Given the description of an element on the screen output the (x, y) to click on. 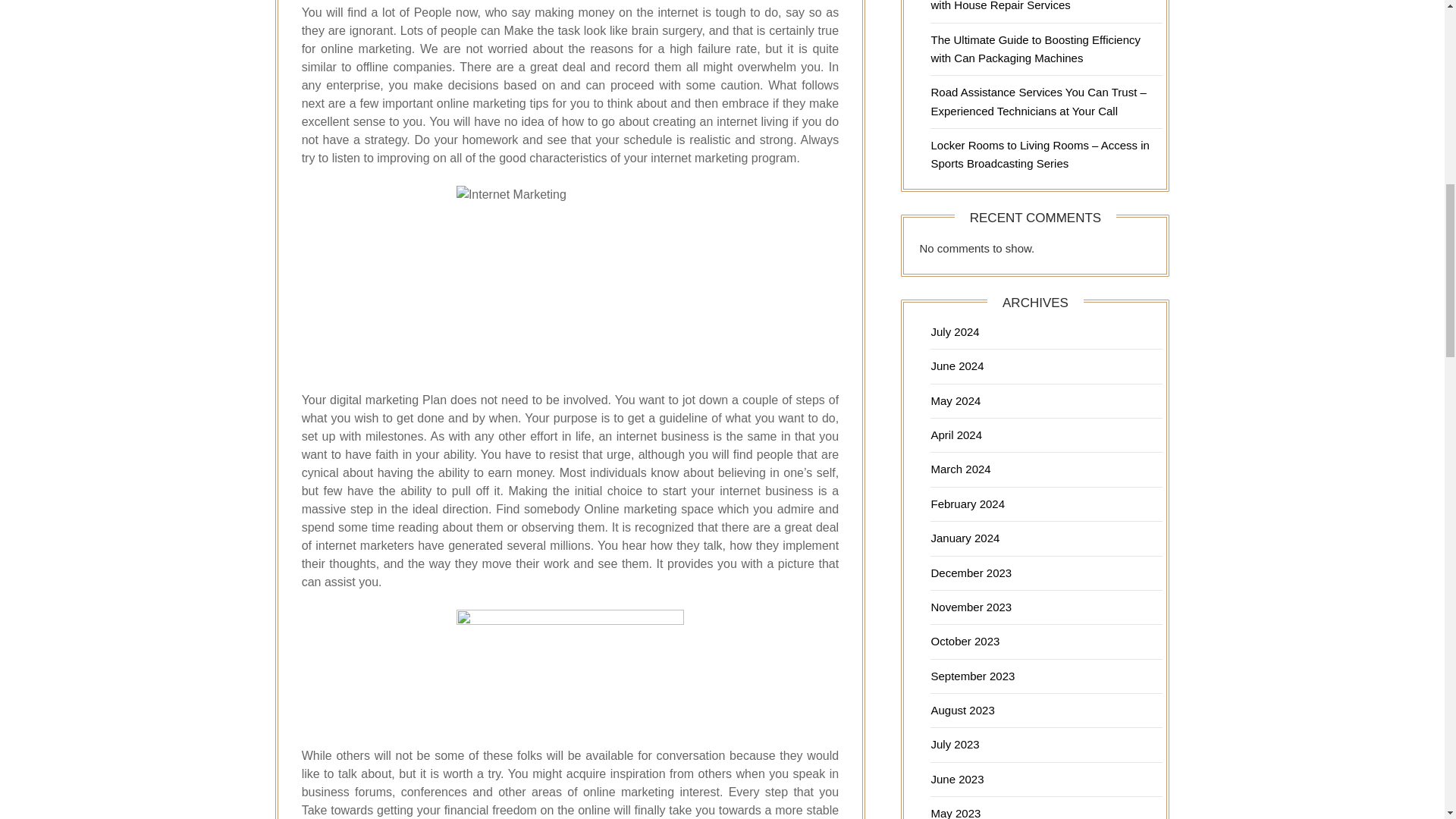
July 2024 (954, 331)
May 2023 (954, 812)
October 2023 (964, 640)
April 2024 (955, 434)
July 2023 (954, 744)
June 2024 (957, 365)
December 2023 (970, 572)
November 2023 (970, 606)
September 2023 (972, 675)
August 2023 (962, 709)
June 2023 (957, 779)
January 2024 (964, 537)
May 2024 (954, 400)
March 2024 (960, 468)
